Given the description of an element on the screen output the (x, y) to click on. 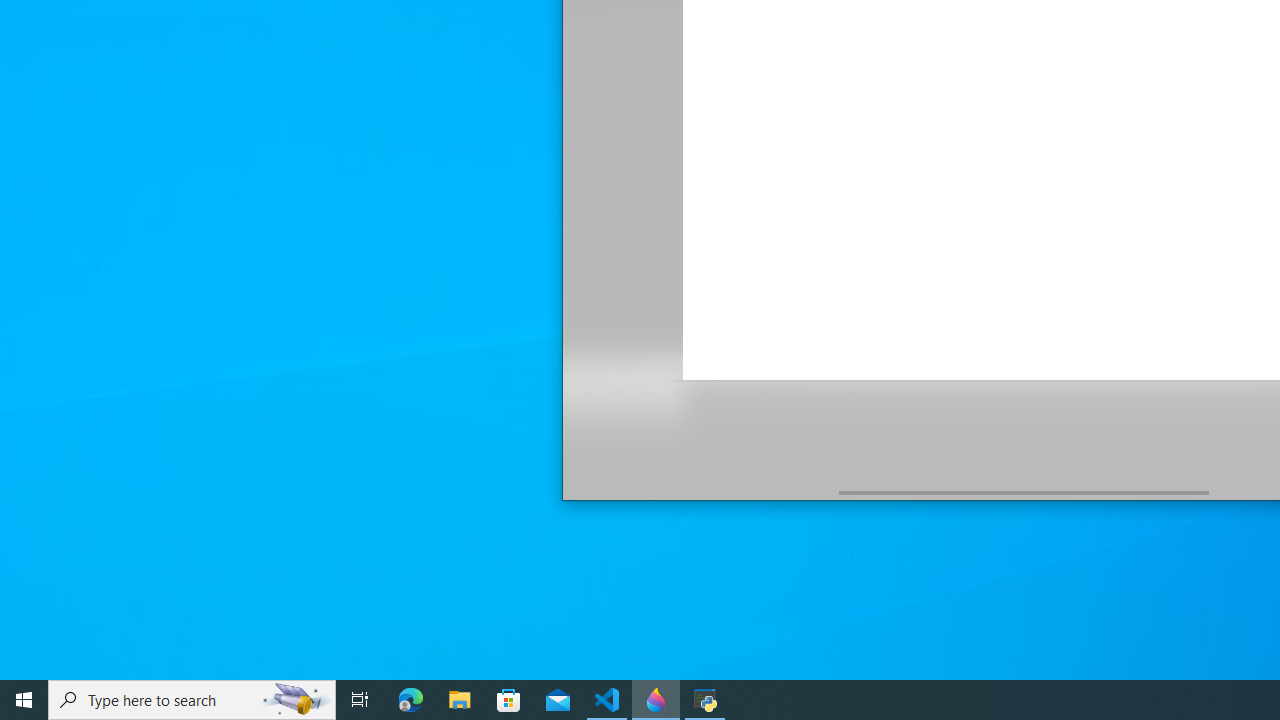
Horizontal Large Decrease (700, 492)
Paint 3D - 1 running window (656, 699)
